Given the description of an element on the screen output the (x, y) to click on. 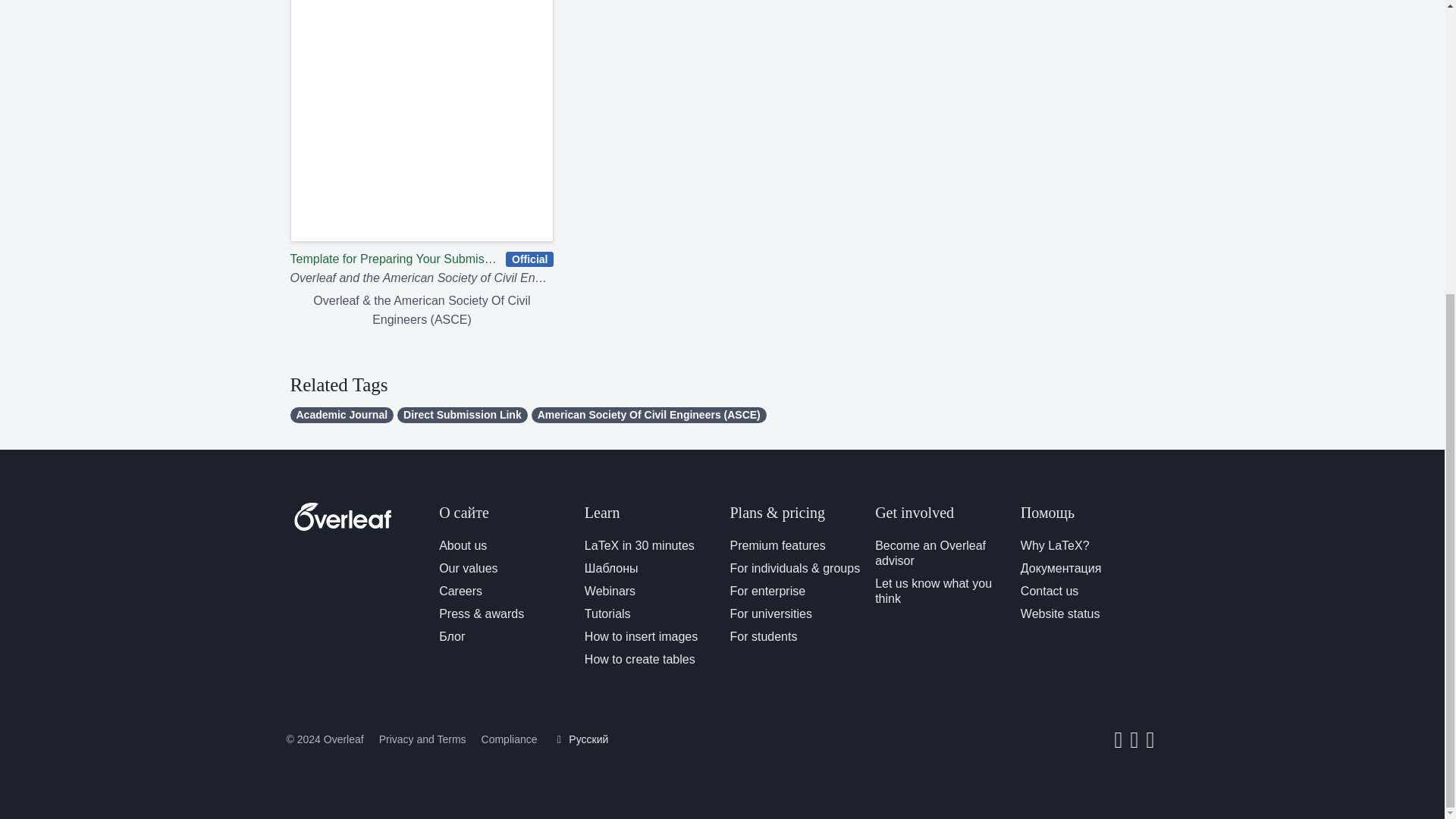
Tutorials (607, 613)
How to insert images (641, 635)
Direct Submission Link (462, 415)
About us (462, 545)
Our values (468, 567)
Academic Journal (341, 415)
Premium features (777, 545)
How to create tables (640, 658)
LaTeX in 30 minutes (639, 545)
Careers (460, 590)
Webinars (609, 590)
